Given the description of an element on the screen output the (x, y) to click on. 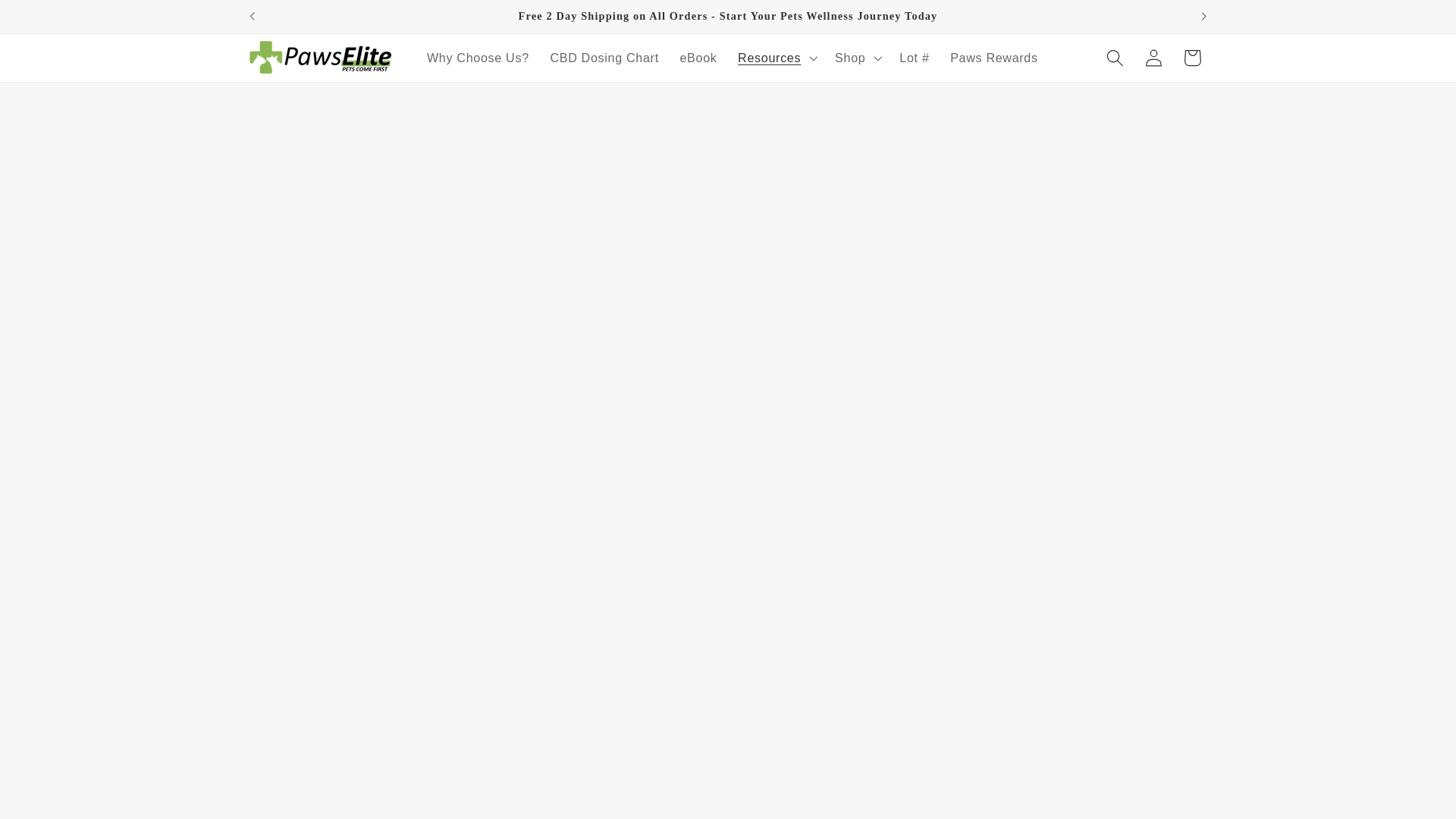
CBD Dosing Chart (604, 57)
Skip to content (52, 20)
Why Choose Us? (477, 57)
eBook (698, 57)
